Given the description of an element on the screen output the (x, y) to click on. 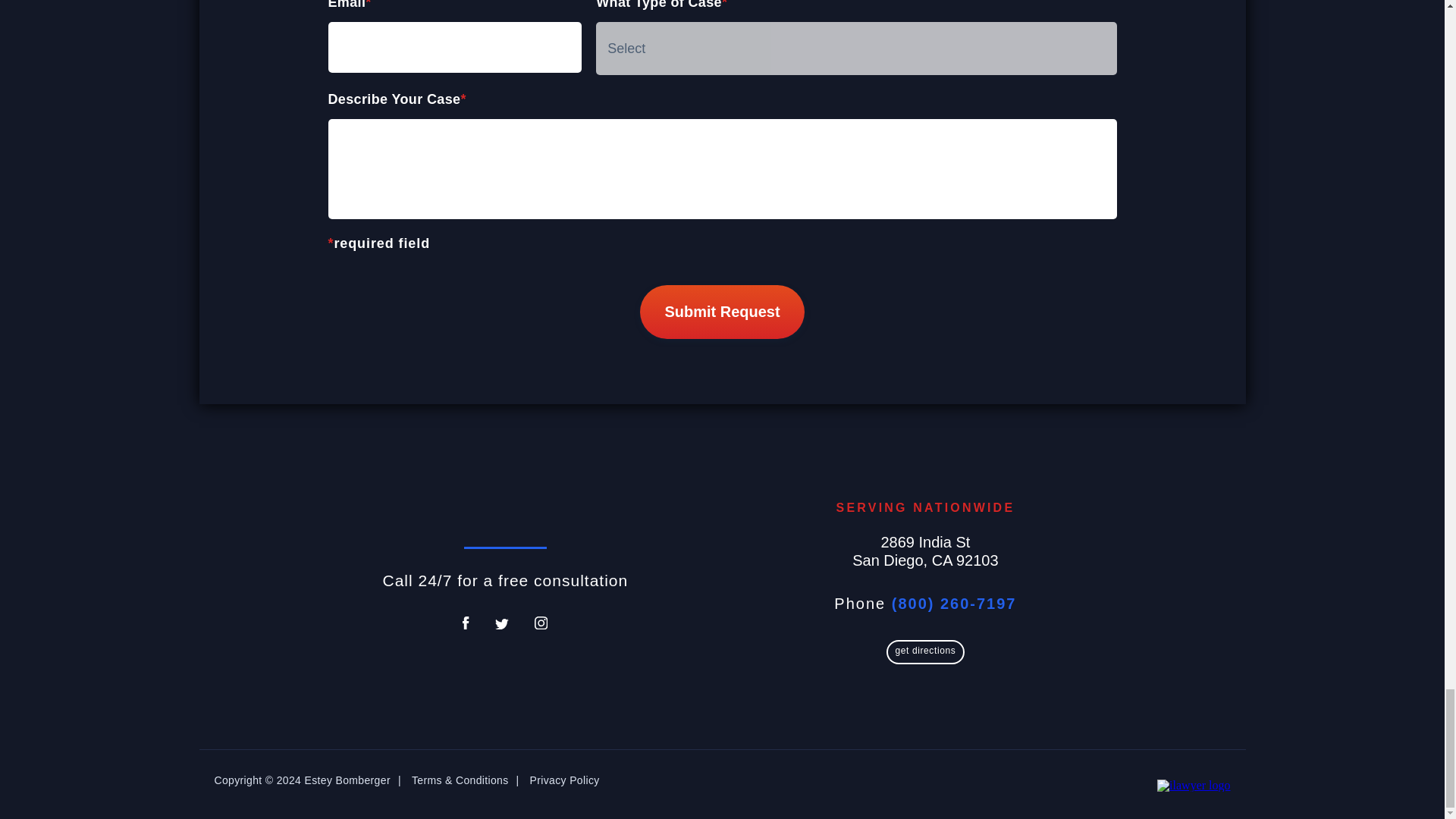
Submit Request (721, 312)
